Given the description of an element on the screen output the (x, y) to click on. 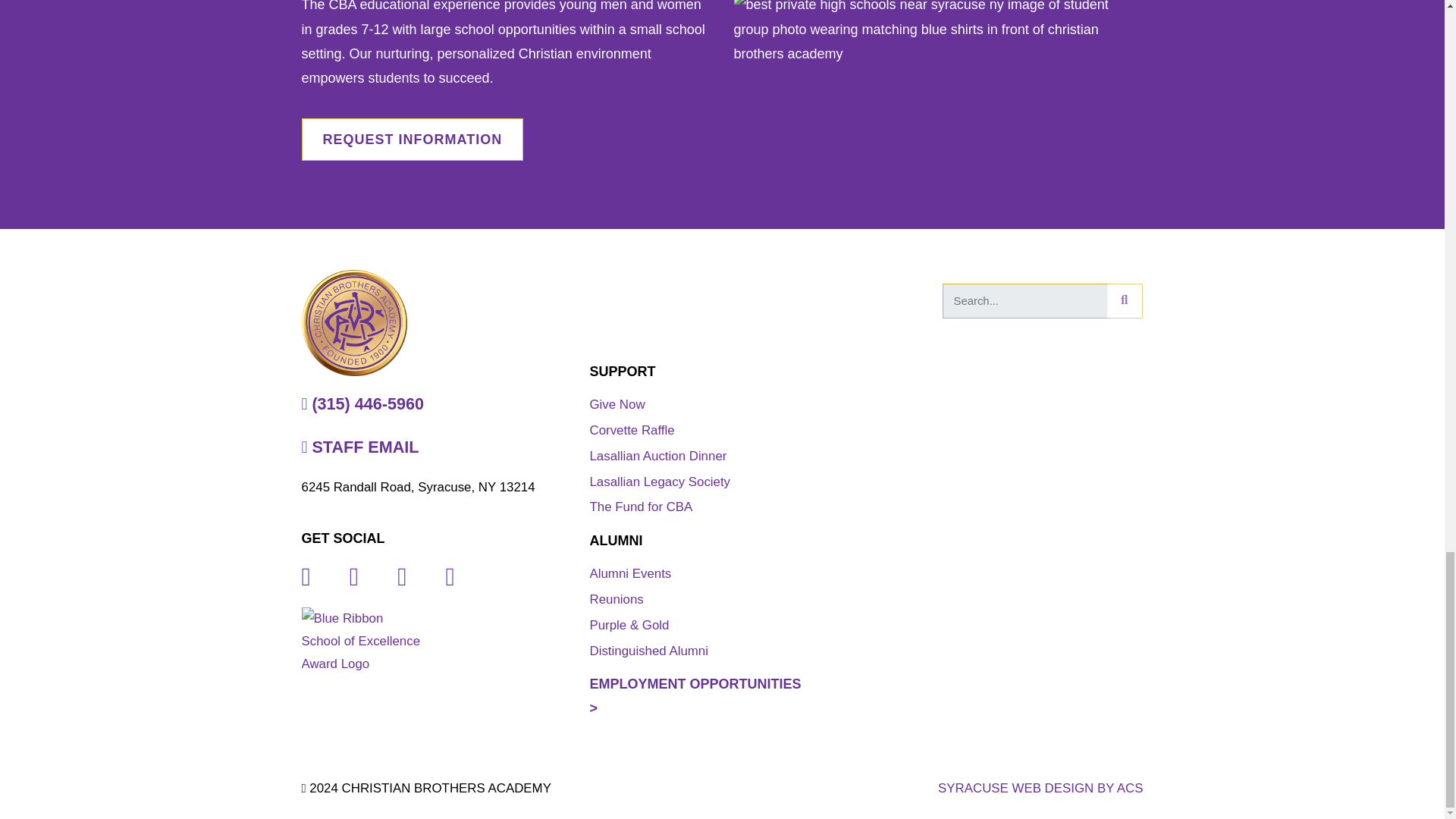
Johnson of Ilion Winner of 30th Annual Corvette Raffle (631, 430)
Employment (694, 695)
Just the Facts (362, 640)
Admissions Staff (412, 138)
